Given the description of an element on the screen output the (x, y) to click on. 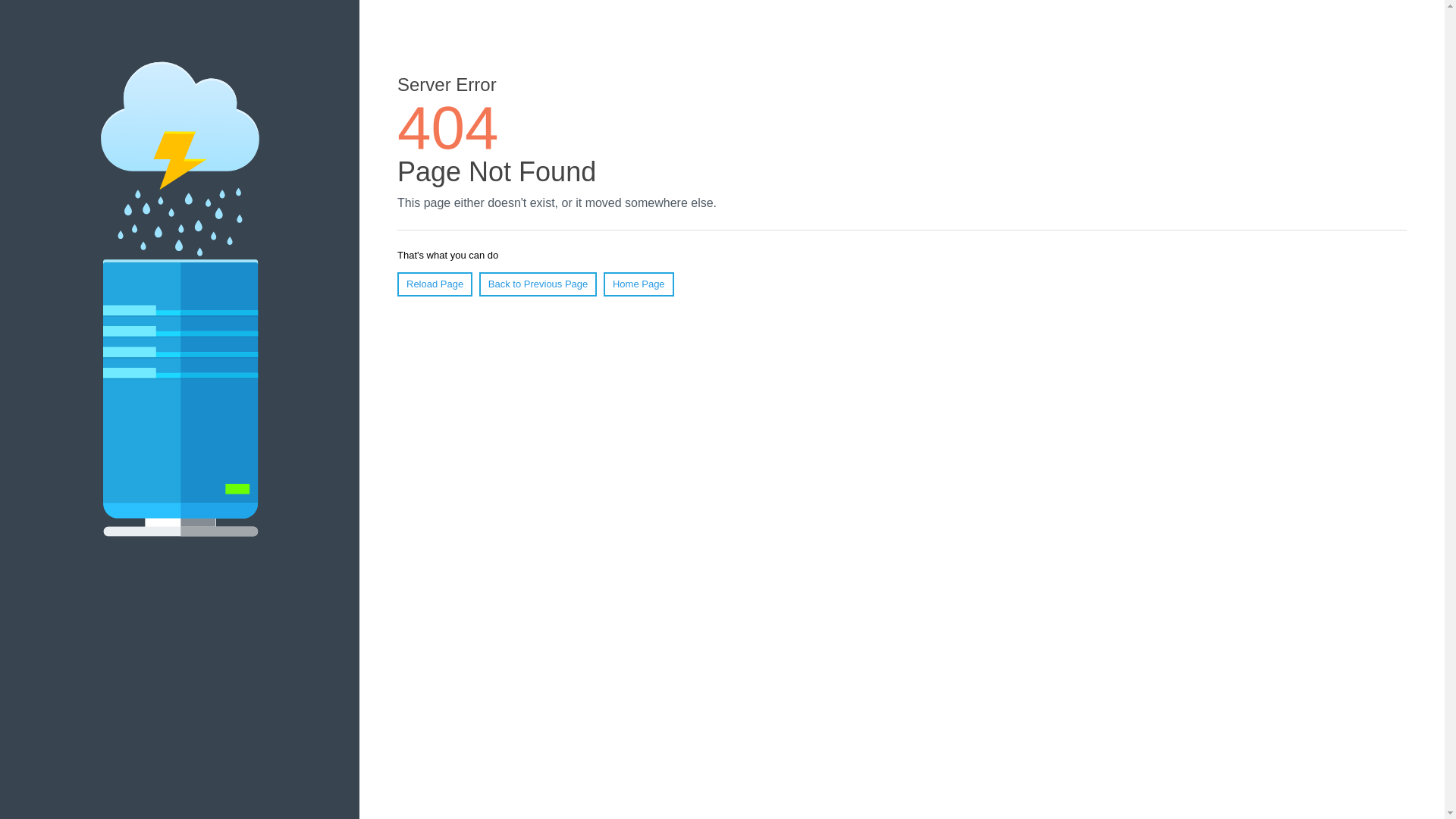
Reload Page Element type: text (434, 284)
Home Page Element type: text (638, 284)
Back to Previous Page Element type: text (538, 284)
